Given the description of an element on the screen output the (x, y) to click on. 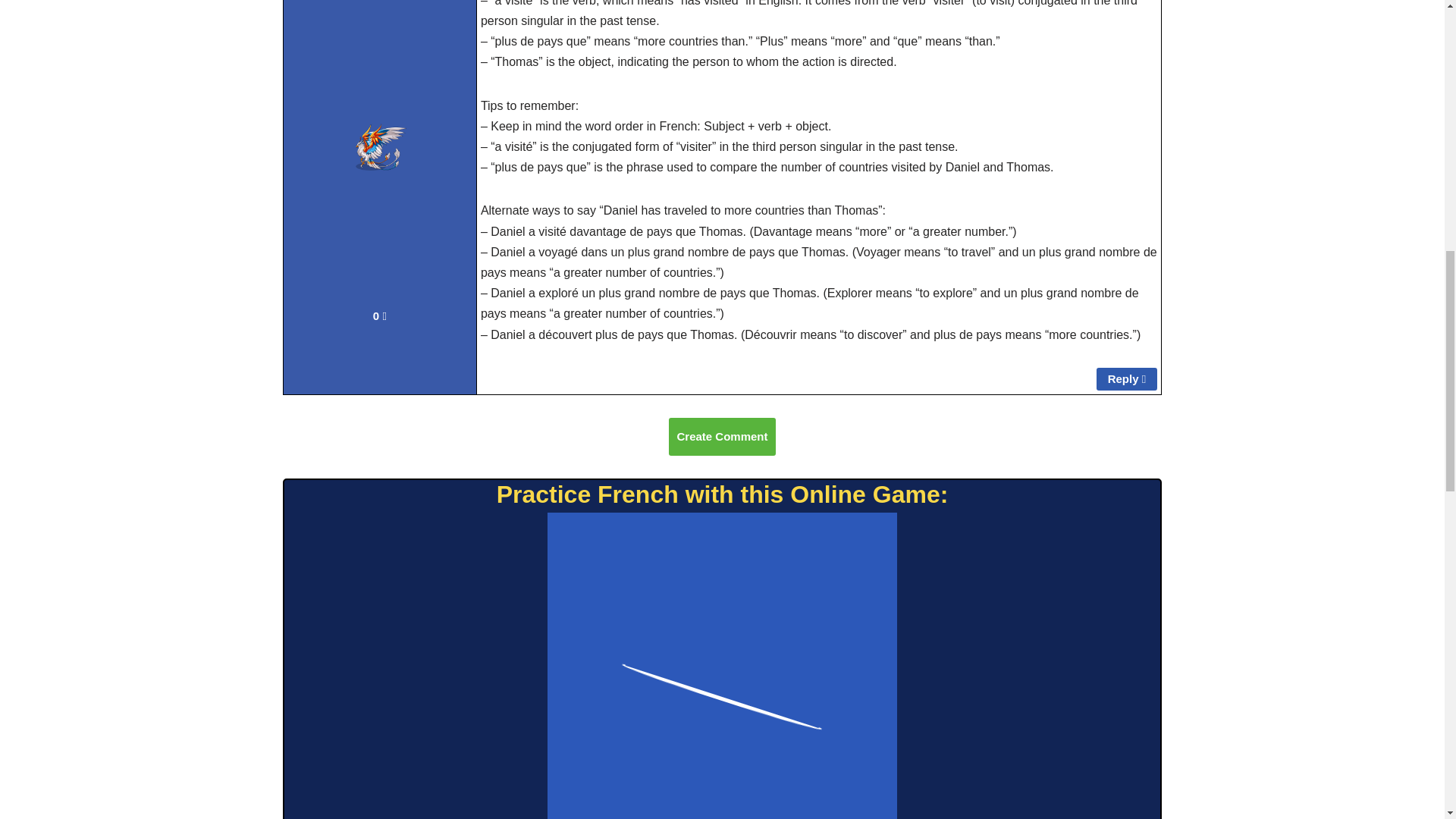
Create Comment (721, 436)
Reply (1126, 378)
